Given the description of an element on the screen output the (x, y) to click on. 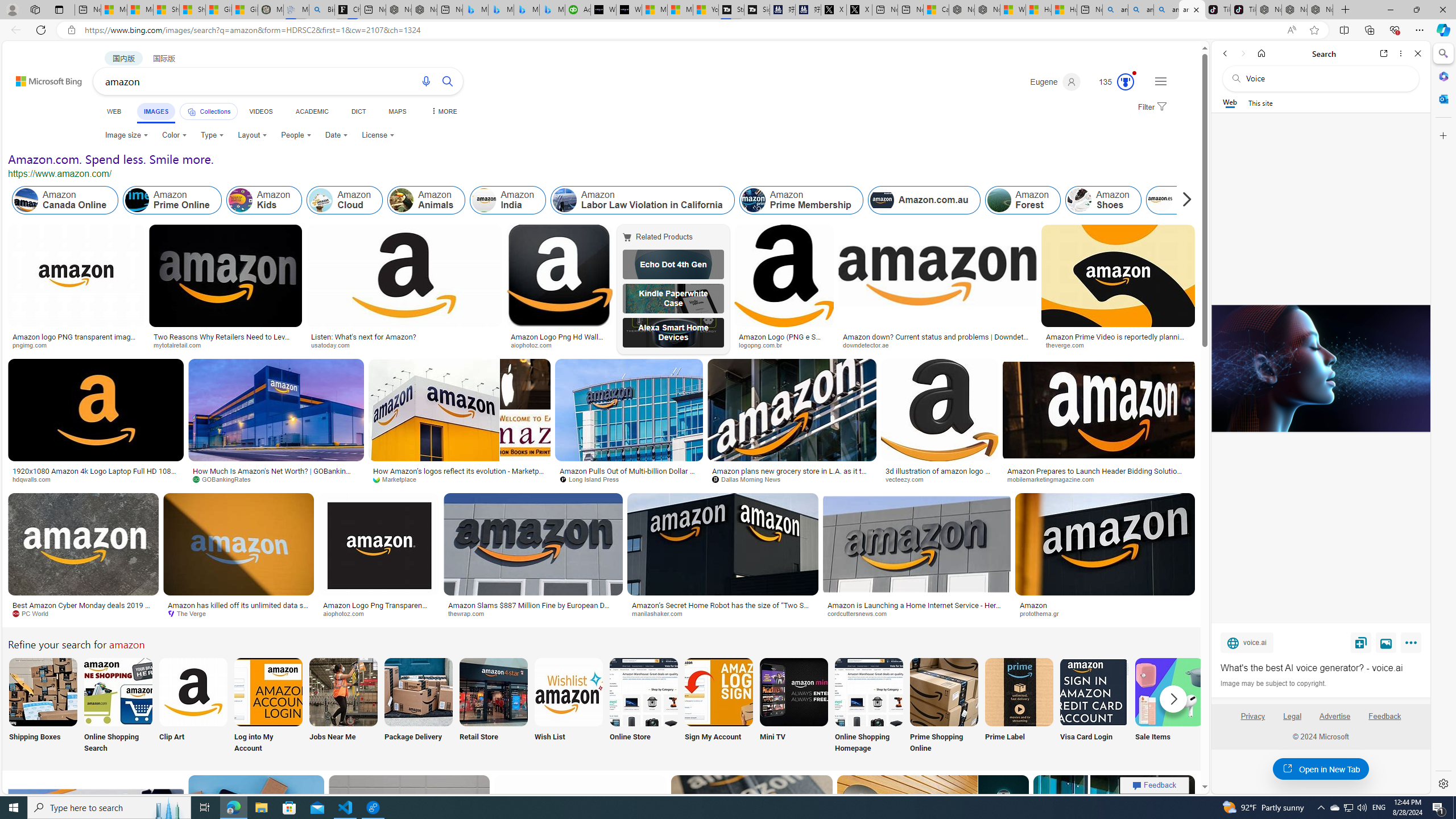
Amazon Prime Membership (801, 199)
WEB (114, 111)
Online Store (644, 706)
Amazon Prime Online (137, 200)
Mini TV (794, 706)
Amazon Prime Shopping Online (944, 691)
downdetector.ae (869, 344)
WEB (114, 111)
Huge shark washes ashore at New York City beach | Watch (1063, 9)
Best Amazon Cyber Monday deals 2019 | PCWorld (82, 608)
cordcuttersnews.com (860, 612)
